Given the description of an element on the screen output the (x, y) to click on. 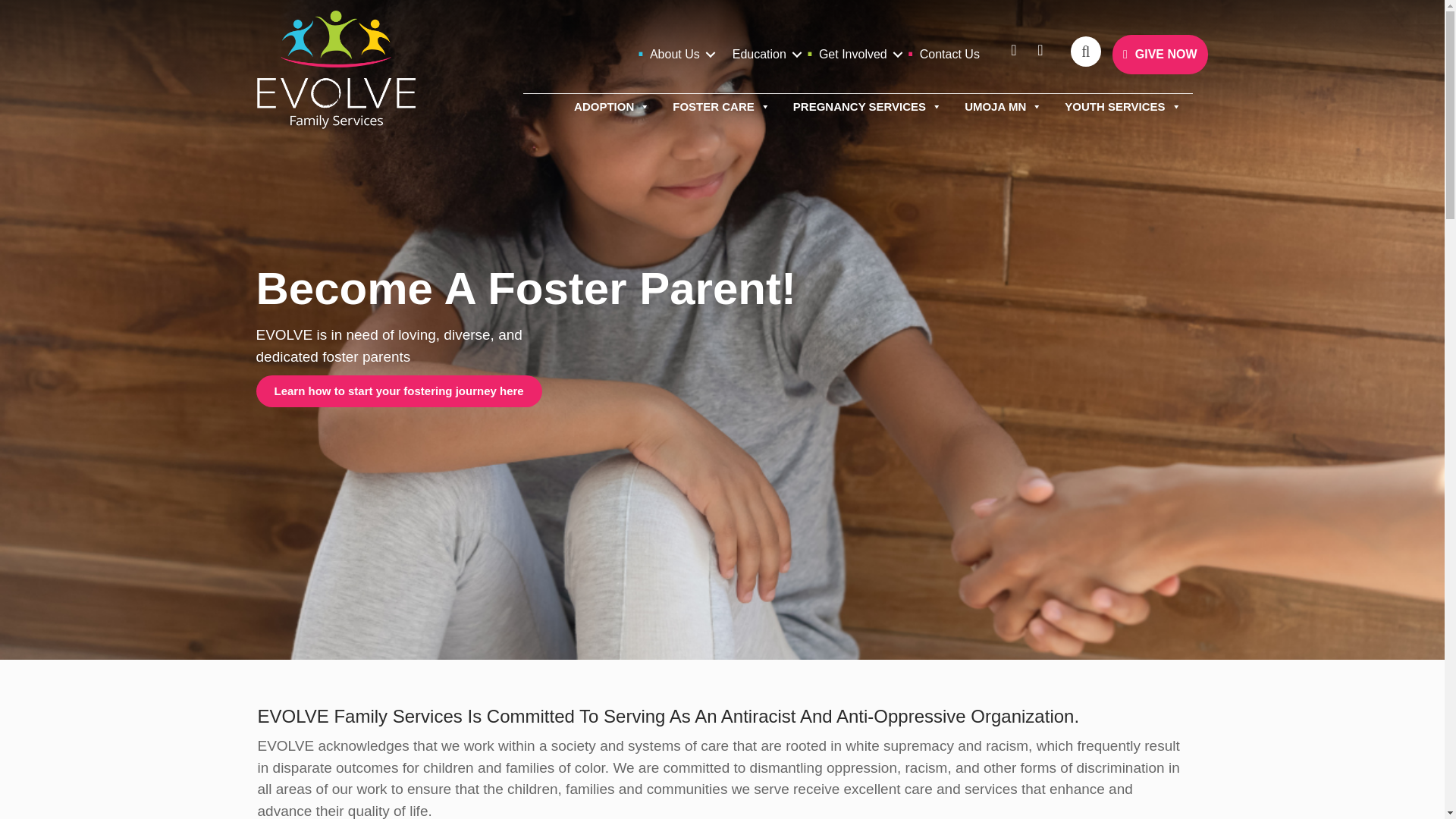
ADOPTION (611, 106)
UMOJA MN (1002, 106)
Search (1087, 55)
GIVE NOW (1160, 54)
About Us (679, 54)
Get Involved (858, 54)
FOSTER CARE (721, 106)
PREGNANCY SERVICES (867, 106)
Facebook (1003, 54)
Evolve Family Services (335, 69)
Instagram (1030, 54)
Education (765, 54)
Contact Us (949, 54)
